Given the description of an element on the screen output the (x, y) to click on. 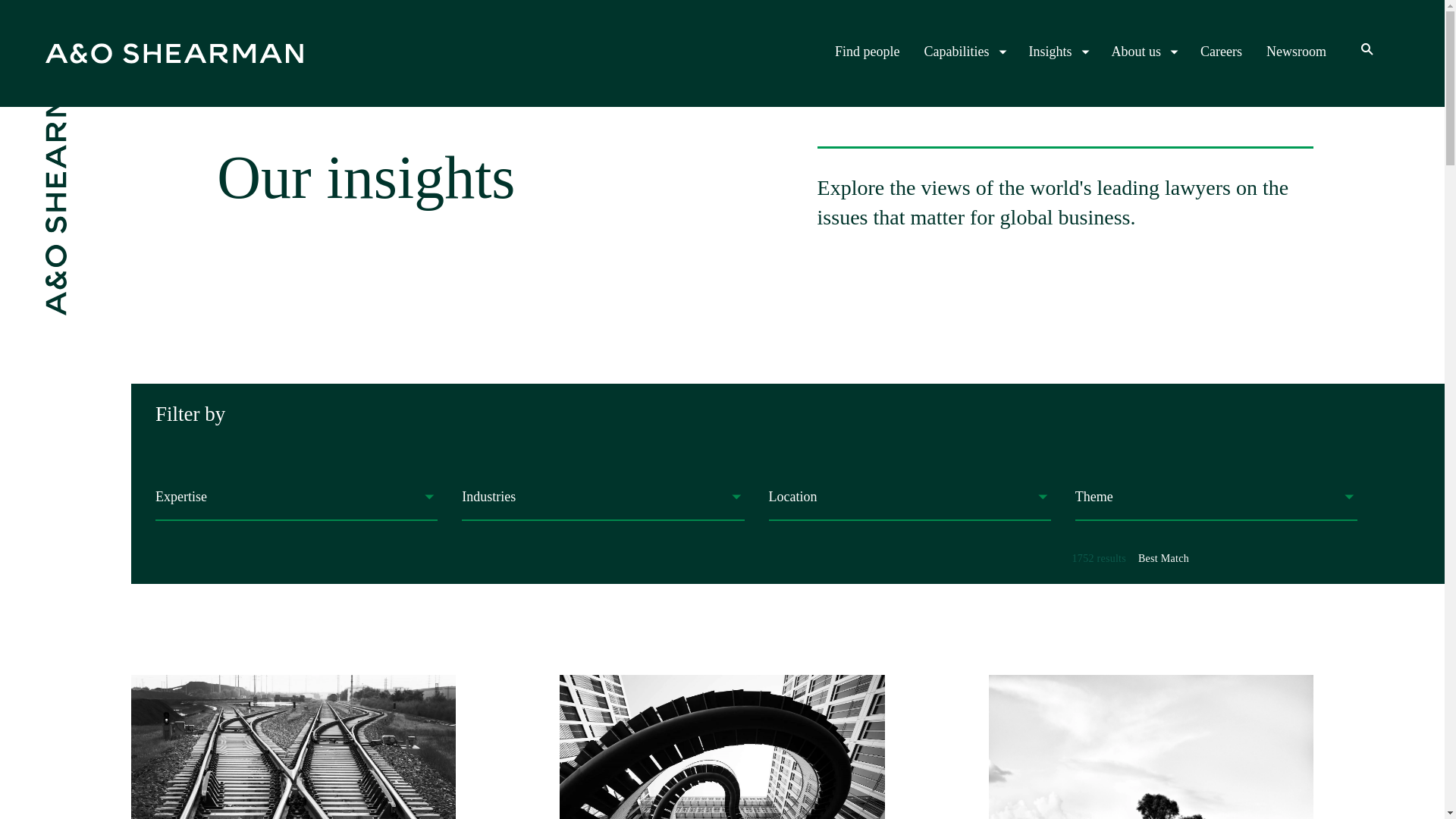
About us (1144, 51)
Insights (1056, 51)
Careers (1220, 51)
Newsroom (1296, 51)
Find people (293, 746)
Capabilities (866, 51)
